Given the description of an element on the screen output the (x, y) to click on. 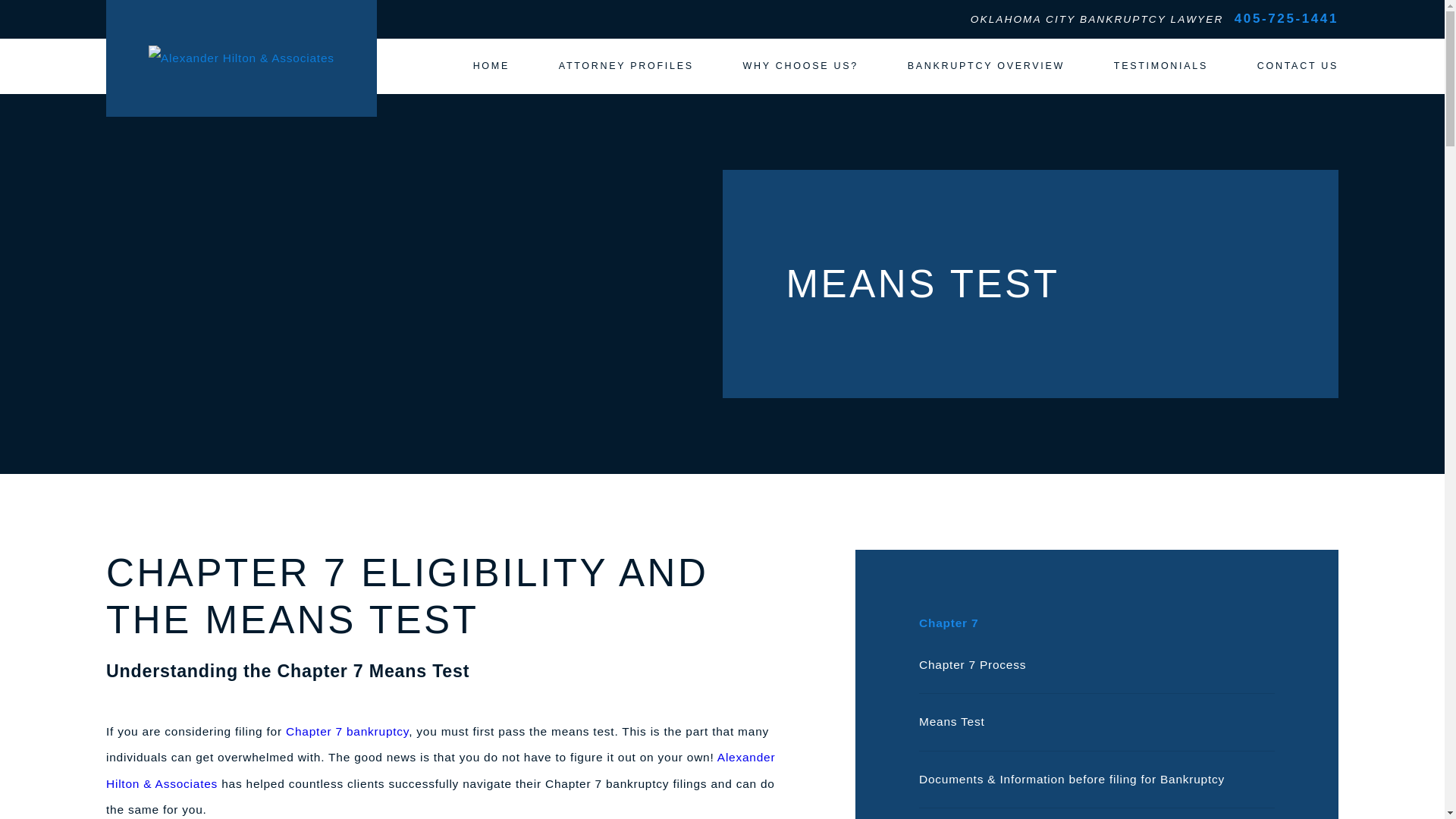
CONTACT US (1297, 65)
BANKRUPTCY OVERVIEW (985, 65)
HOME (491, 65)
WHY CHOOSE US? (800, 65)
Open the accessibility options menu (31, 786)
ATTORNEY PROFILES (626, 65)
405-725-1441 (1286, 19)
TESTIMONIALS (1160, 65)
